Given the description of an element on the screen output the (x, y) to click on. 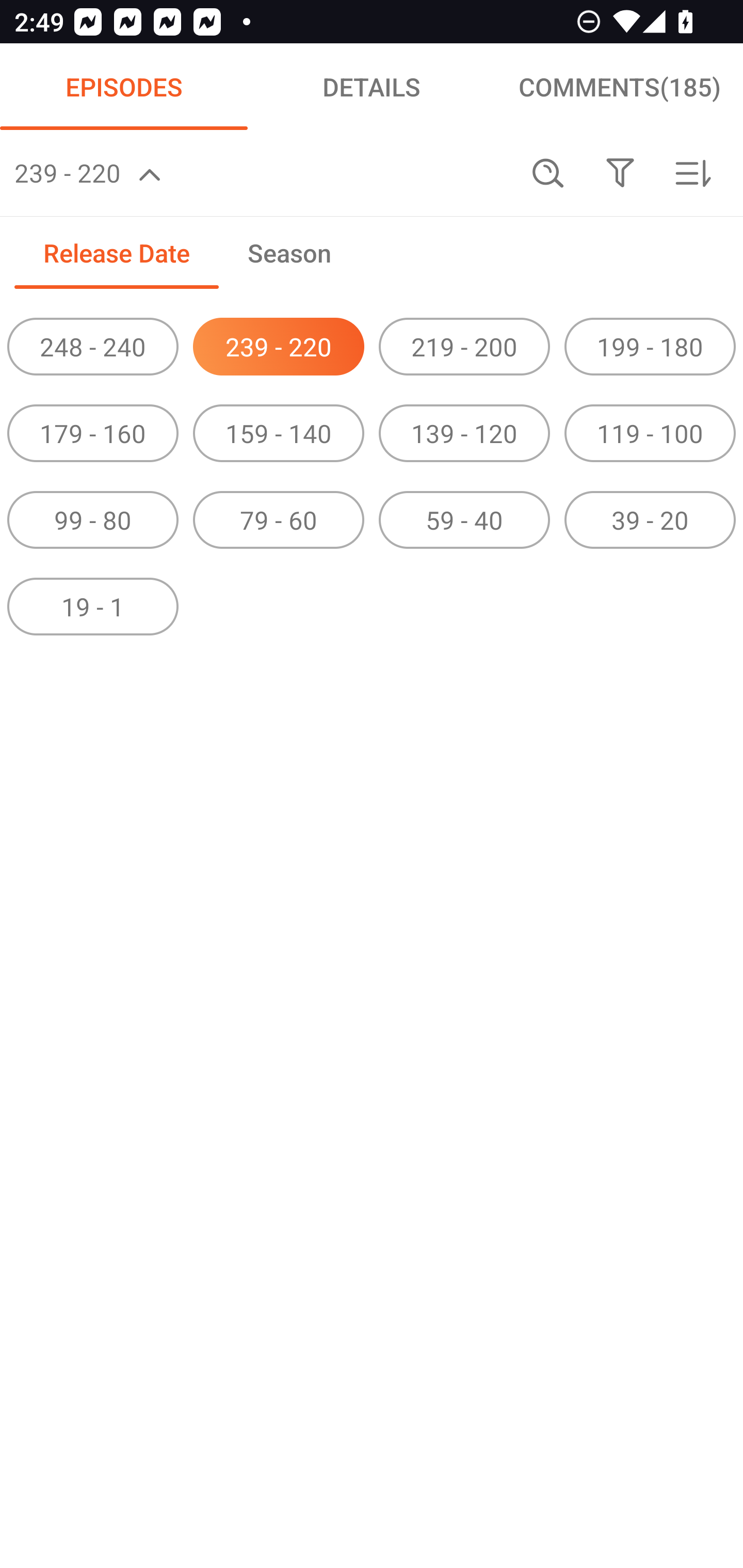
Release Date (116, 252)
Season (289, 252)
248 - 240 (92, 346)
239 - 220 (278, 346)
219 - 200 (463, 346)
199 - 180 (649, 346)
179 - 160 (92, 433)
159 - 140 (278, 433)
139 - 120 (463, 433)
119 - 100 (649, 433)
99 - 80 (92, 519)
79 - 60 (278, 519)
59 - 40 (463, 519)
39 - 20 (649, 519)
19 - 1 (92, 606)
